Given the description of an element on the screen output the (x, y) to click on. 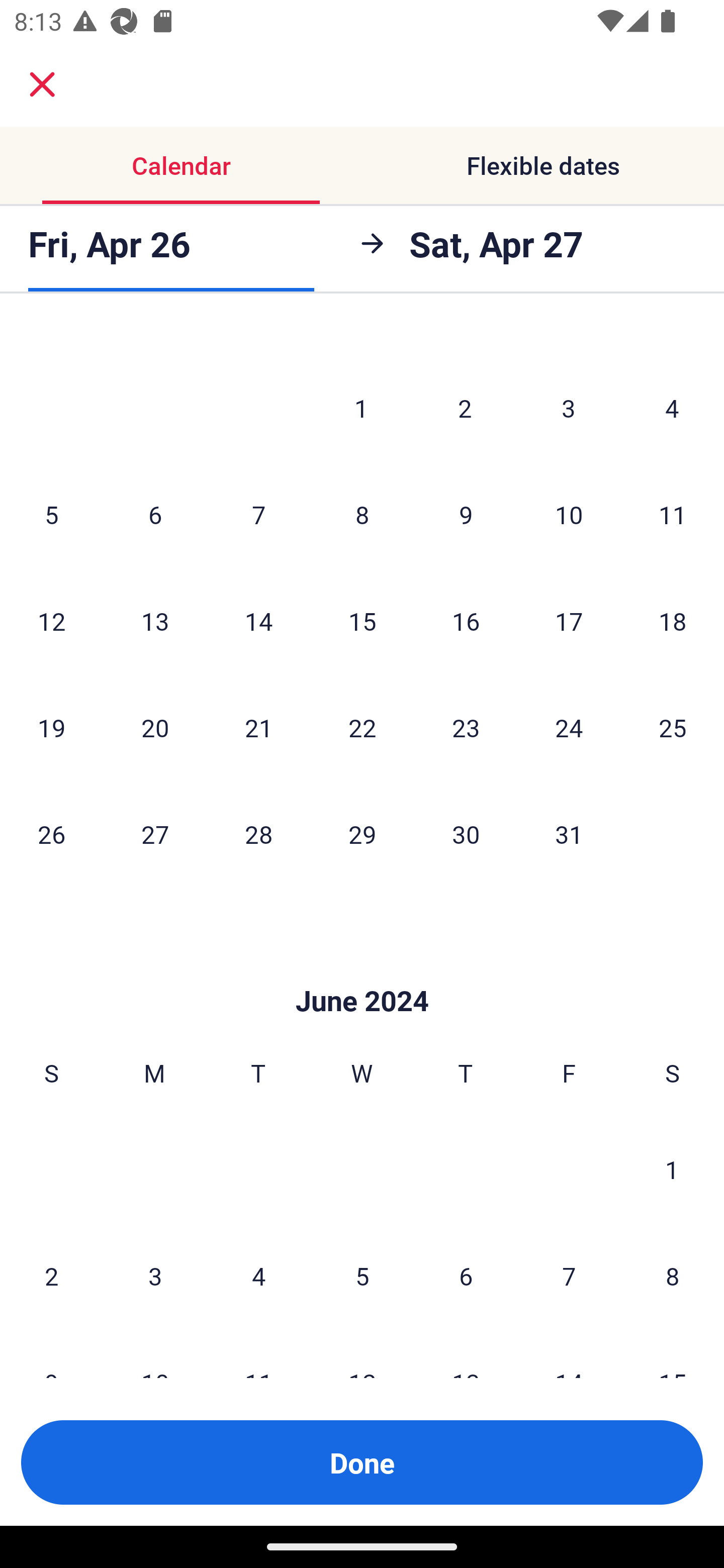
close. (42, 84)
Flexible dates (542, 164)
1 Wednesday, May 1, 2024 (361, 407)
2 Thursday, May 2, 2024 (464, 407)
3 Friday, May 3, 2024 (568, 407)
4 Saturday, May 4, 2024 (672, 407)
5 Sunday, May 5, 2024 (51, 514)
6 Monday, May 6, 2024 (155, 514)
7 Tuesday, May 7, 2024 (258, 514)
8 Wednesday, May 8, 2024 (362, 514)
9 Thursday, May 9, 2024 (465, 514)
10 Friday, May 10, 2024 (569, 514)
11 Saturday, May 11, 2024 (672, 514)
12 Sunday, May 12, 2024 (51, 620)
13 Monday, May 13, 2024 (155, 620)
14 Tuesday, May 14, 2024 (258, 620)
15 Wednesday, May 15, 2024 (362, 620)
16 Thursday, May 16, 2024 (465, 620)
17 Friday, May 17, 2024 (569, 620)
18 Saturday, May 18, 2024 (672, 620)
19 Sunday, May 19, 2024 (51, 727)
20 Monday, May 20, 2024 (155, 727)
21 Tuesday, May 21, 2024 (258, 727)
22 Wednesday, May 22, 2024 (362, 727)
23 Thursday, May 23, 2024 (465, 727)
24 Friday, May 24, 2024 (569, 727)
25 Saturday, May 25, 2024 (672, 727)
26 Sunday, May 26, 2024 (51, 833)
27 Monday, May 27, 2024 (155, 833)
28 Tuesday, May 28, 2024 (258, 833)
29 Wednesday, May 29, 2024 (362, 833)
30 Thursday, May 30, 2024 (465, 833)
31 Friday, May 31, 2024 (569, 833)
Skip to Done (362, 970)
1 Saturday, June 1, 2024 (672, 1169)
2 Sunday, June 2, 2024 (51, 1275)
3 Monday, June 3, 2024 (155, 1275)
4 Tuesday, June 4, 2024 (258, 1275)
5 Wednesday, June 5, 2024 (362, 1275)
6 Thursday, June 6, 2024 (465, 1275)
7 Friday, June 7, 2024 (569, 1275)
8 Saturday, June 8, 2024 (672, 1275)
Done (361, 1462)
